Given the description of an element on the screen output the (x, y) to click on. 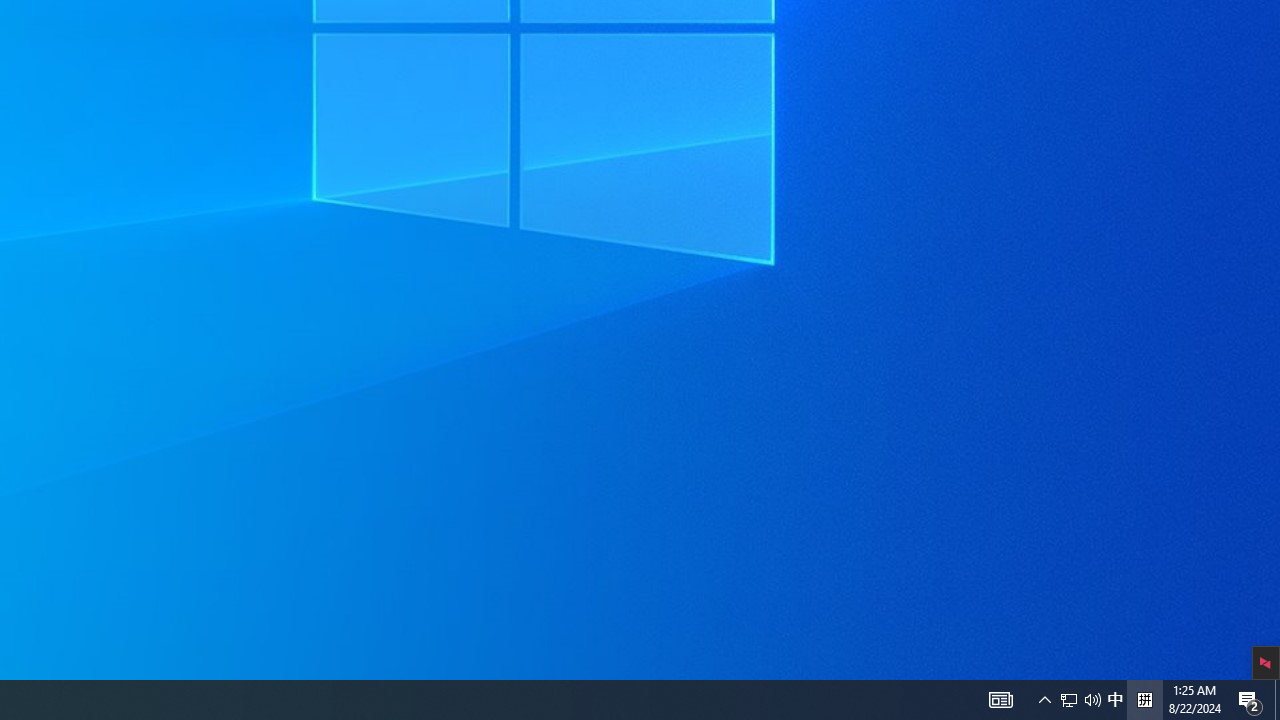
Tray Input Indicator - Chinese (Simplified, China) (1144, 699)
User Promoted Notification Area (1080, 699)
Show desktop (1277, 699)
AutomationID: 4105 (1000, 699)
Notification Chevron (1044, 699)
Action Center, 2 new notifications (1069, 699)
Q2790: 100% (1250, 699)
